Given the description of an element on the screen output the (x, y) to click on. 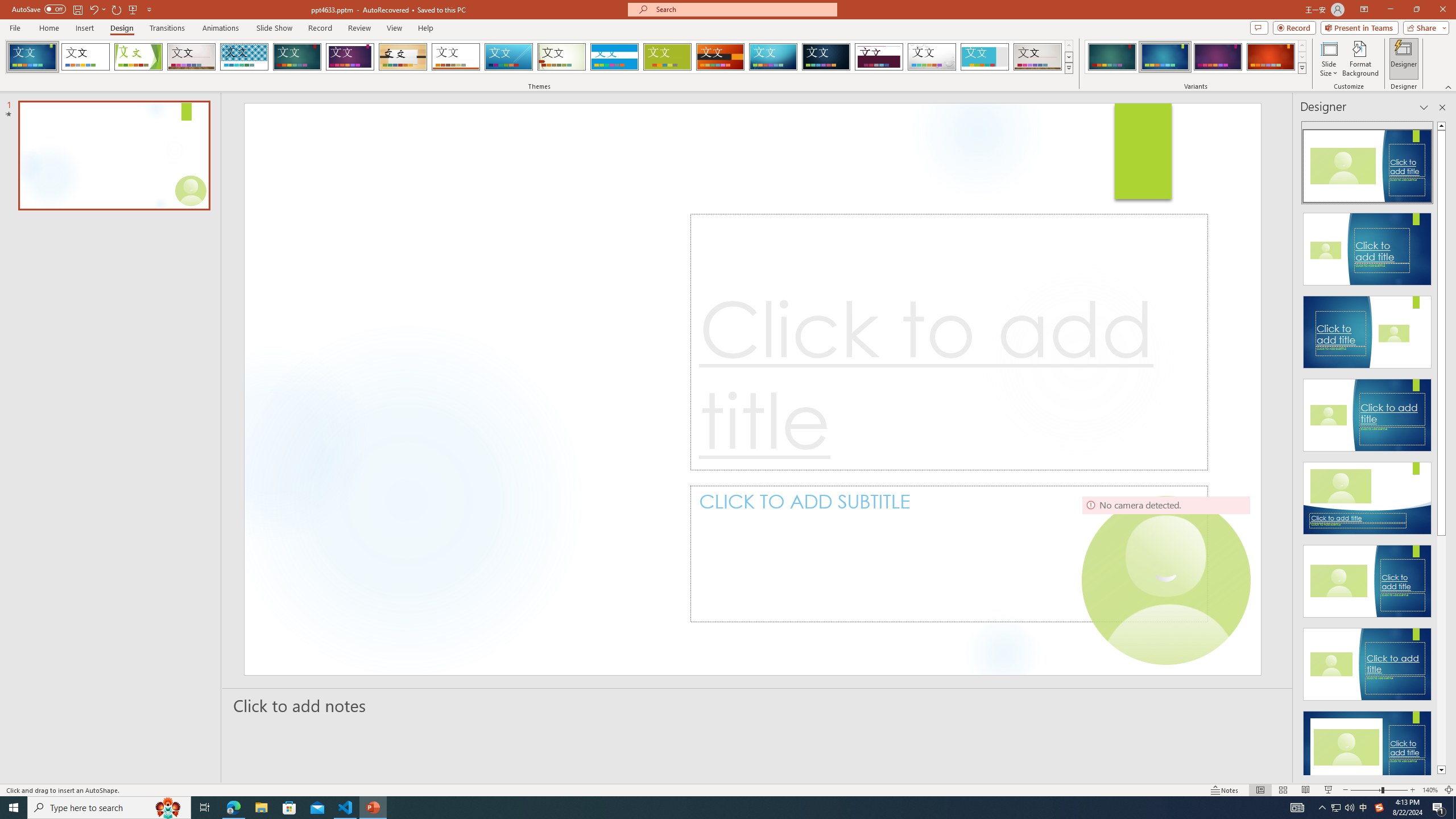
Variants (1301, 67)
Gallery Loading Preview... (1037, 56)
Basis Loading Preview... (667, 56)
Slice Loading Preview... (508, 56)
